Given the description of an element on the screen output the (x, y) to click on. 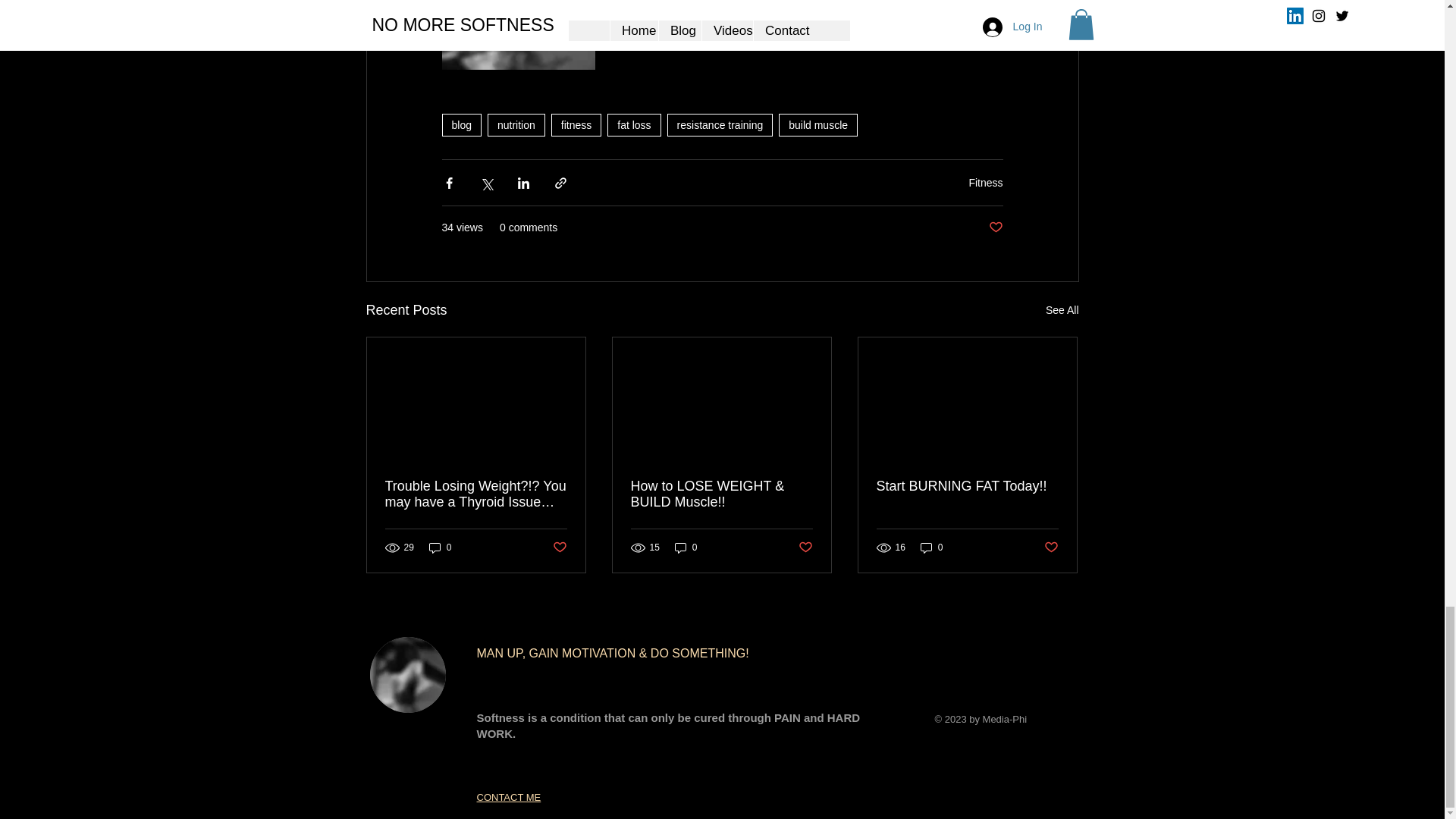
build muscle (817, 124)
resistance training (719, 124)
See All (1061, 310)
blog (460, 124)
Fitness (985, 182)
nutrition (515, 124)
Post not marked as liked (995, 227)
fitness (576, 124)
fat loss (634, 124)
